Given the description of an element on the screen output the (x, y) to click on. 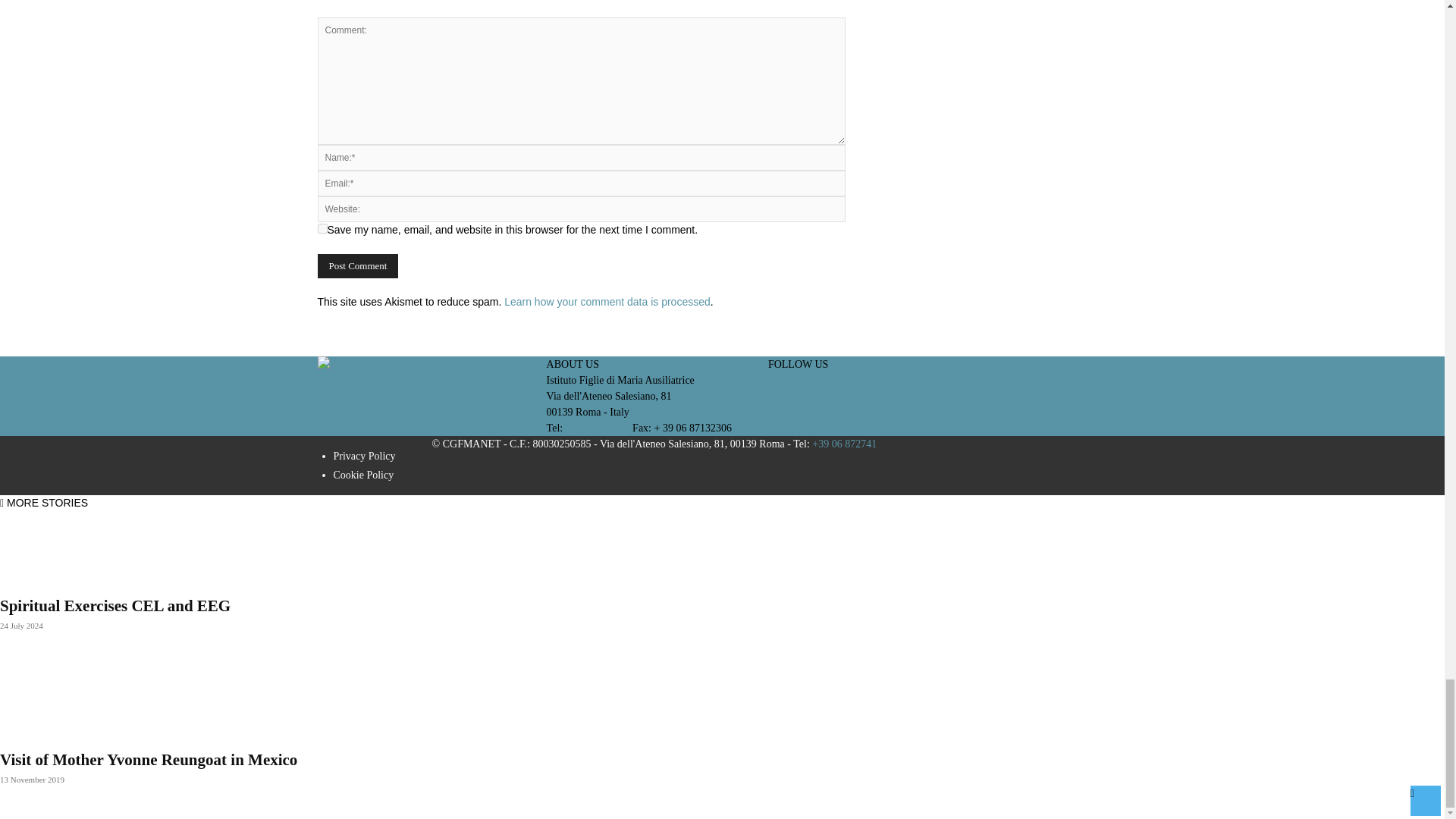
yes (321, 228)
Post Comment (357, 265)
